Given the description of an element on the screen output the (x, y) to click on. 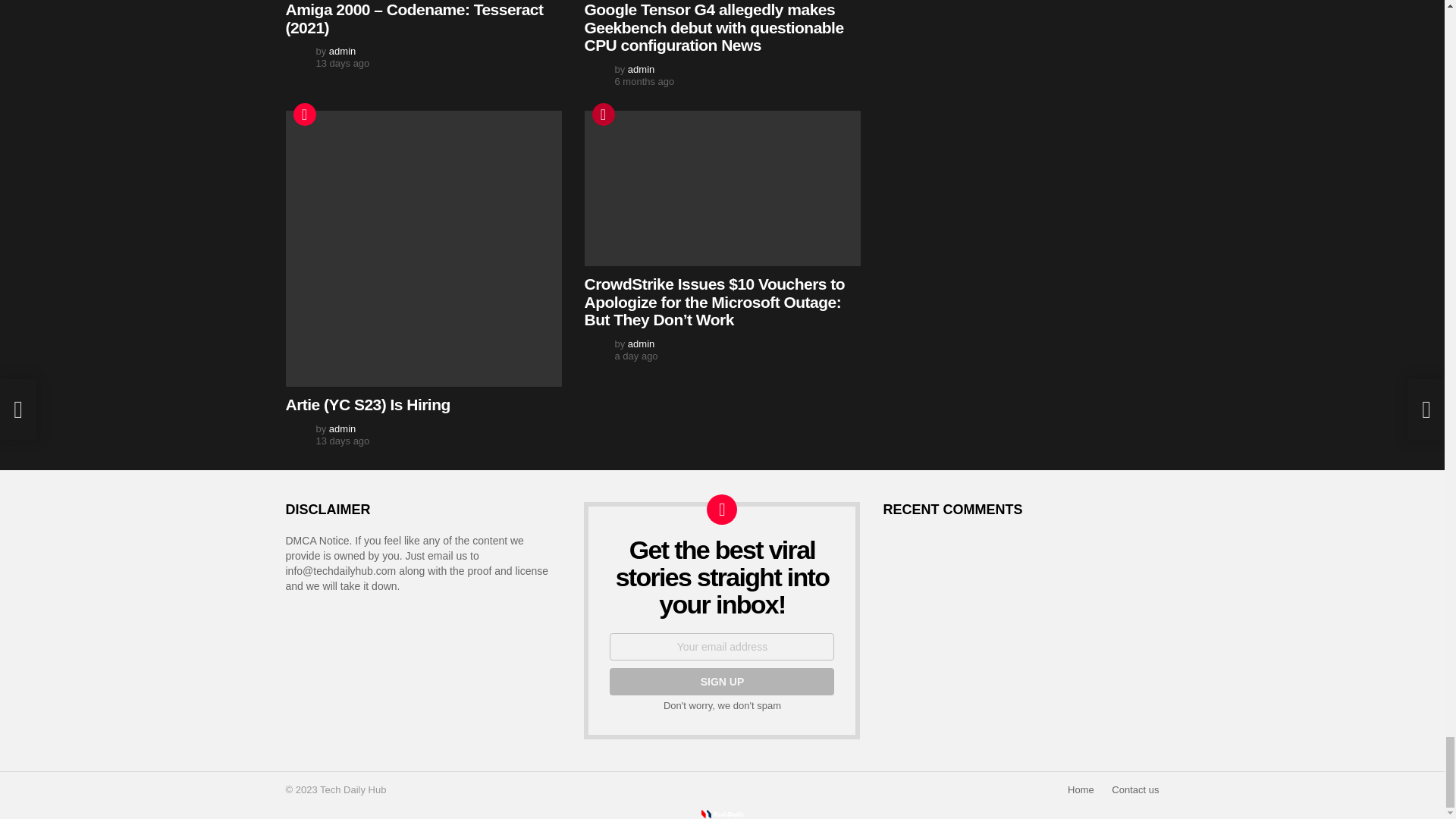
Sign up (722, 681)
